Given the description of an element on the screen output the (x, y) to click on. 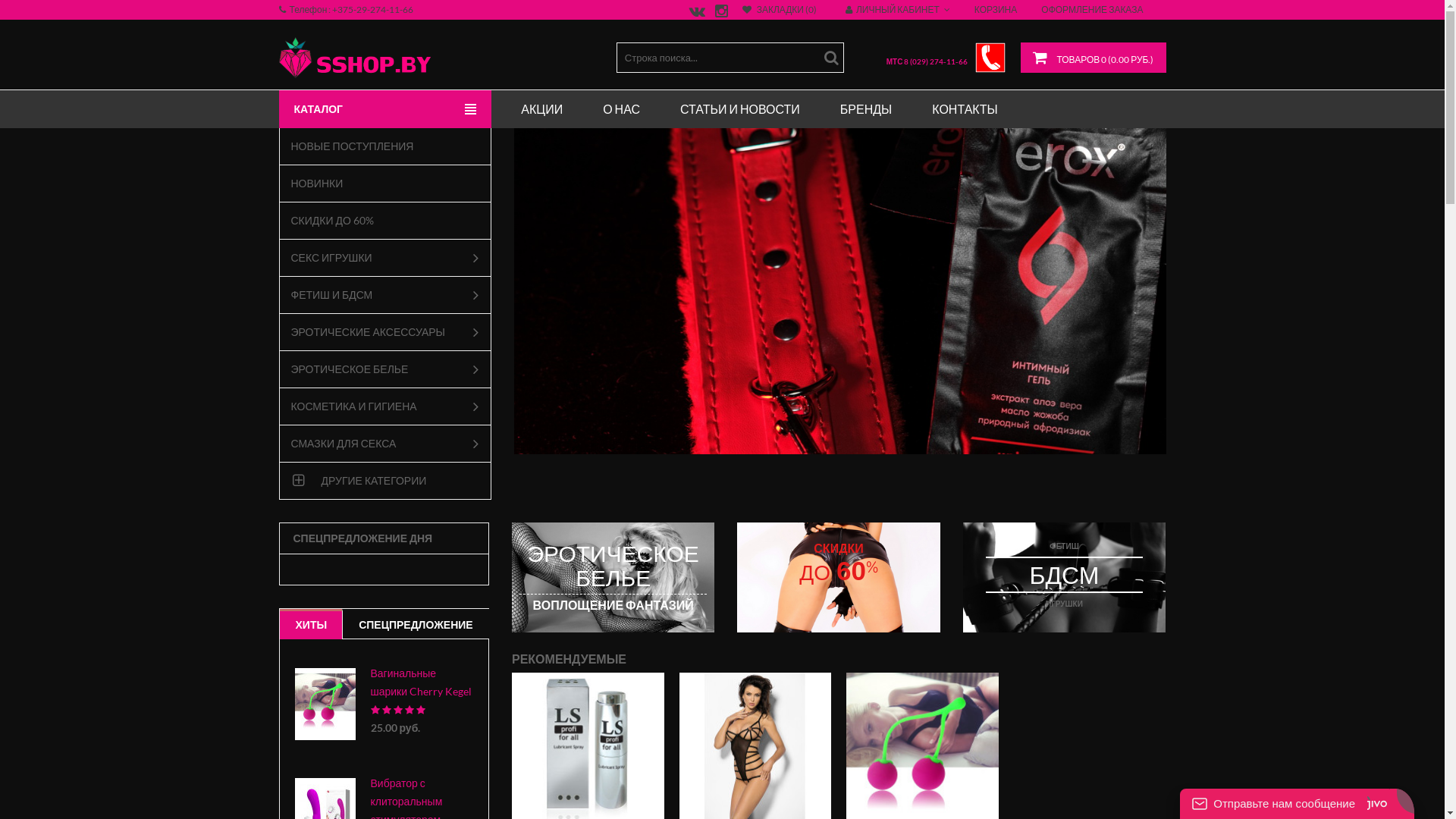
sShop.by Element type: hover (354, 57)
vk Element type: hover (694, 12)
instagram Element type: hover (718, 12)
